Given the description of an element on the screen output the (x, y) to click on. 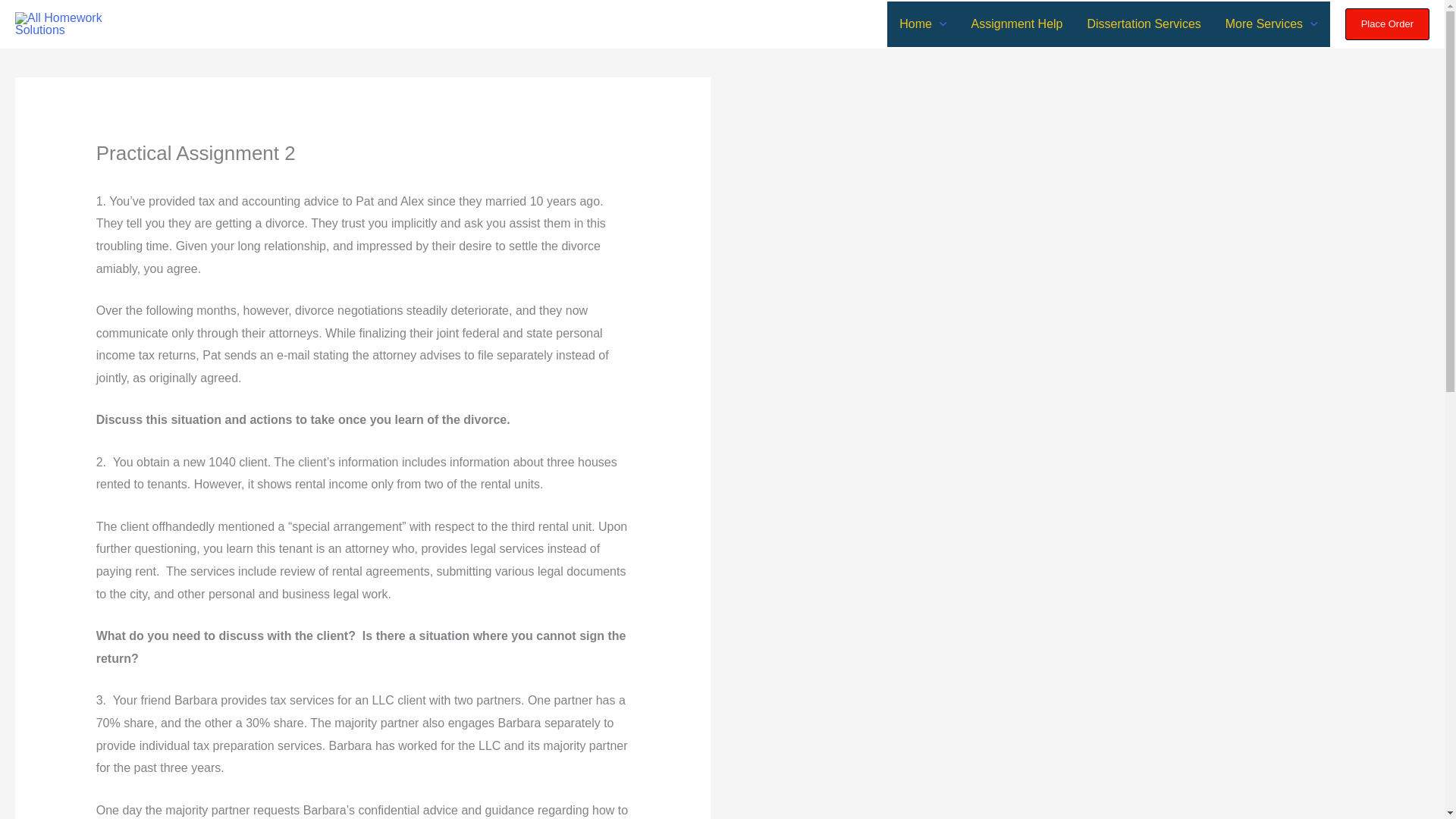
More Services (1271, 23)
Assignment Help (1017, 23)
Place Order (1387, 24)
Home (922, 23)
Dissertation Services (1143, 23)
